Given the description of an element on the screen output the (x, y) to click on. 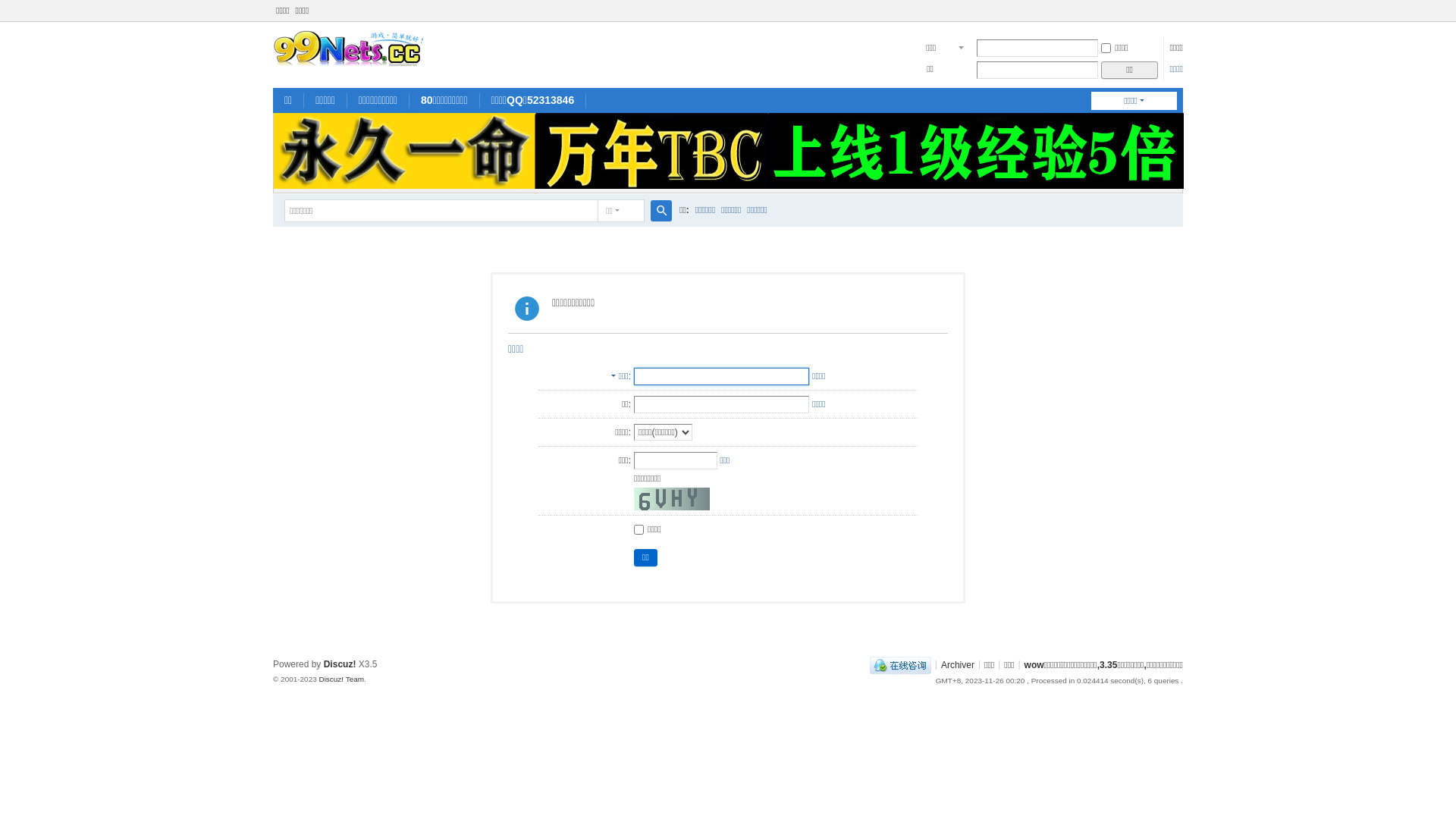
Discuz! Element type: text (339, 663)
Discuz! Team Element type: text (341, 678)
Archiver Element type: text (957, 663)
true Element type: text (660, 210)
QQ Element type: hover (900, 663)
